Given the description of an element on the screen output the (x, y) to click on. 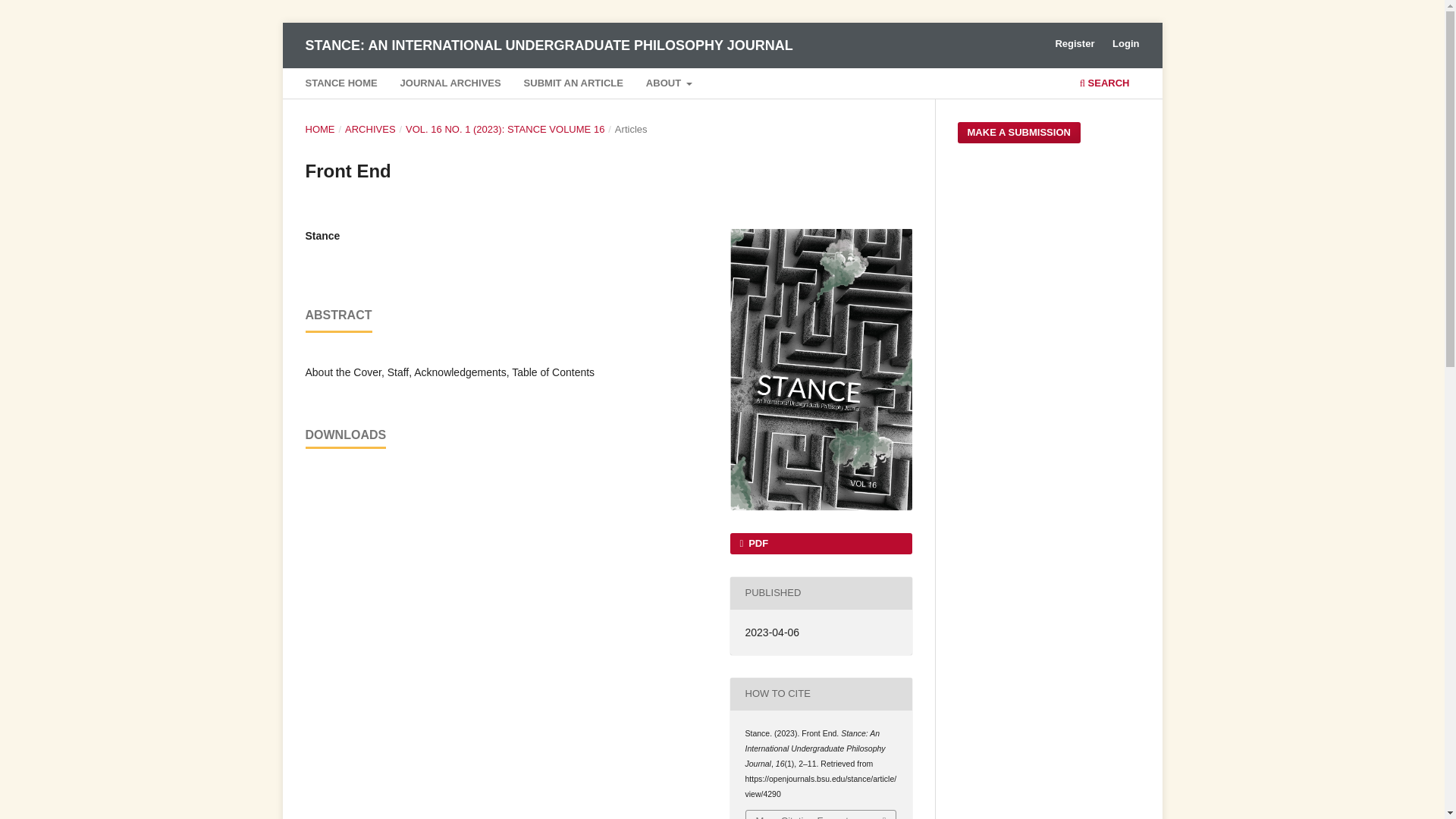
SEARCH (1104, 85)
HOME (319, 129)
Login (1126, 43)
ABOUT (668, 85)
MAKE A SUBMISSION (1018, 132)
JOURNAL ARCHIVES (449, 85)
PDF (820, 543)
STANCE: AN INTERNATIONAL UNDERGRADUATE PHILOSOPHY JOURNAL (548, 45)
More Citation Formats (820, 814)
Register (1074, 43)
SUBMIT AN ARTICLE (572, 85)
ARCHIVES (370, 129)
STANCE HOME (340, 85)
